Given the description of an element on the screen output the (x, y) to click on. 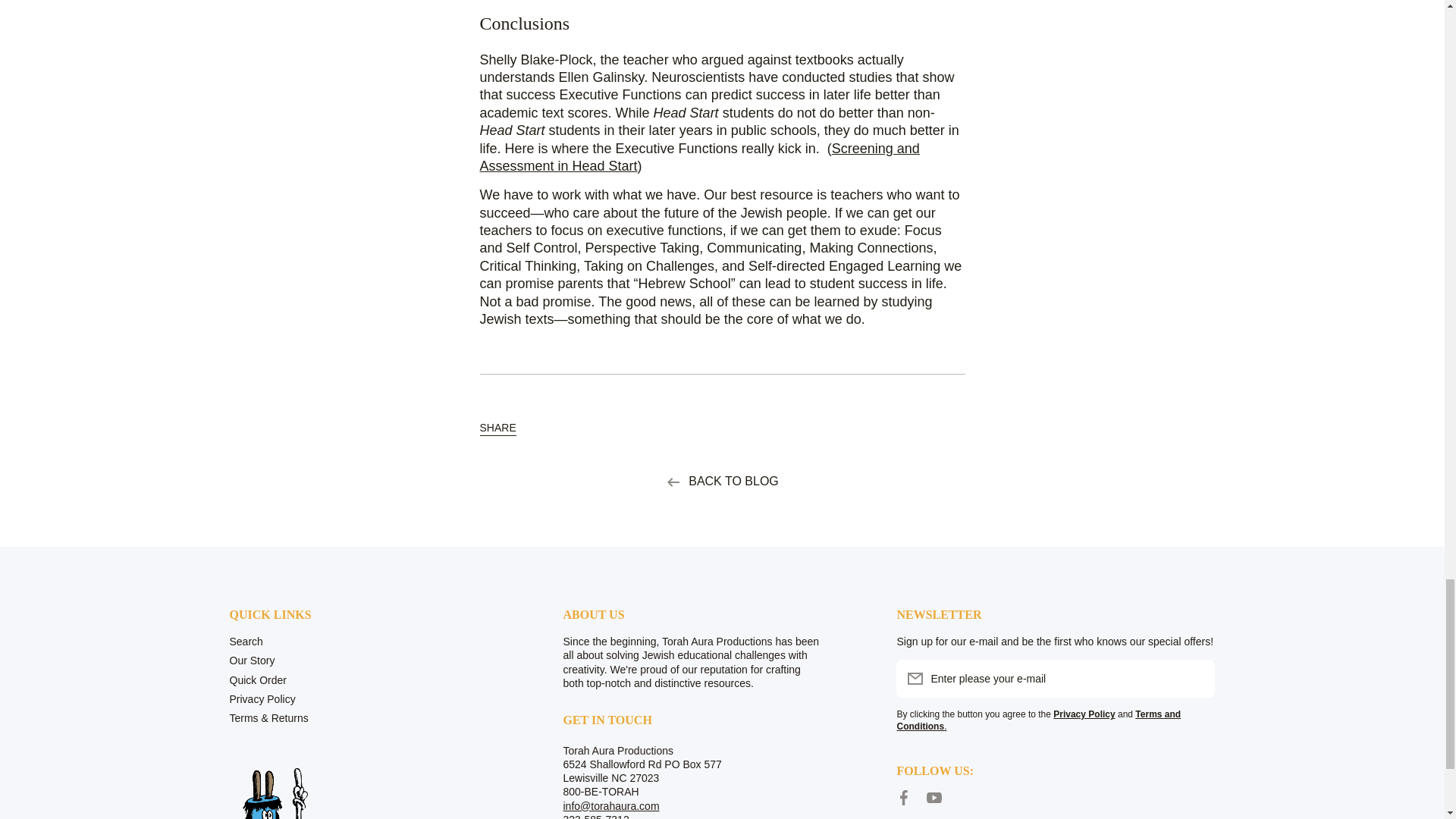
tel: 323-585-7312 (595, 816)
